Given the description of an element on the screen output the (x, y) to click on. 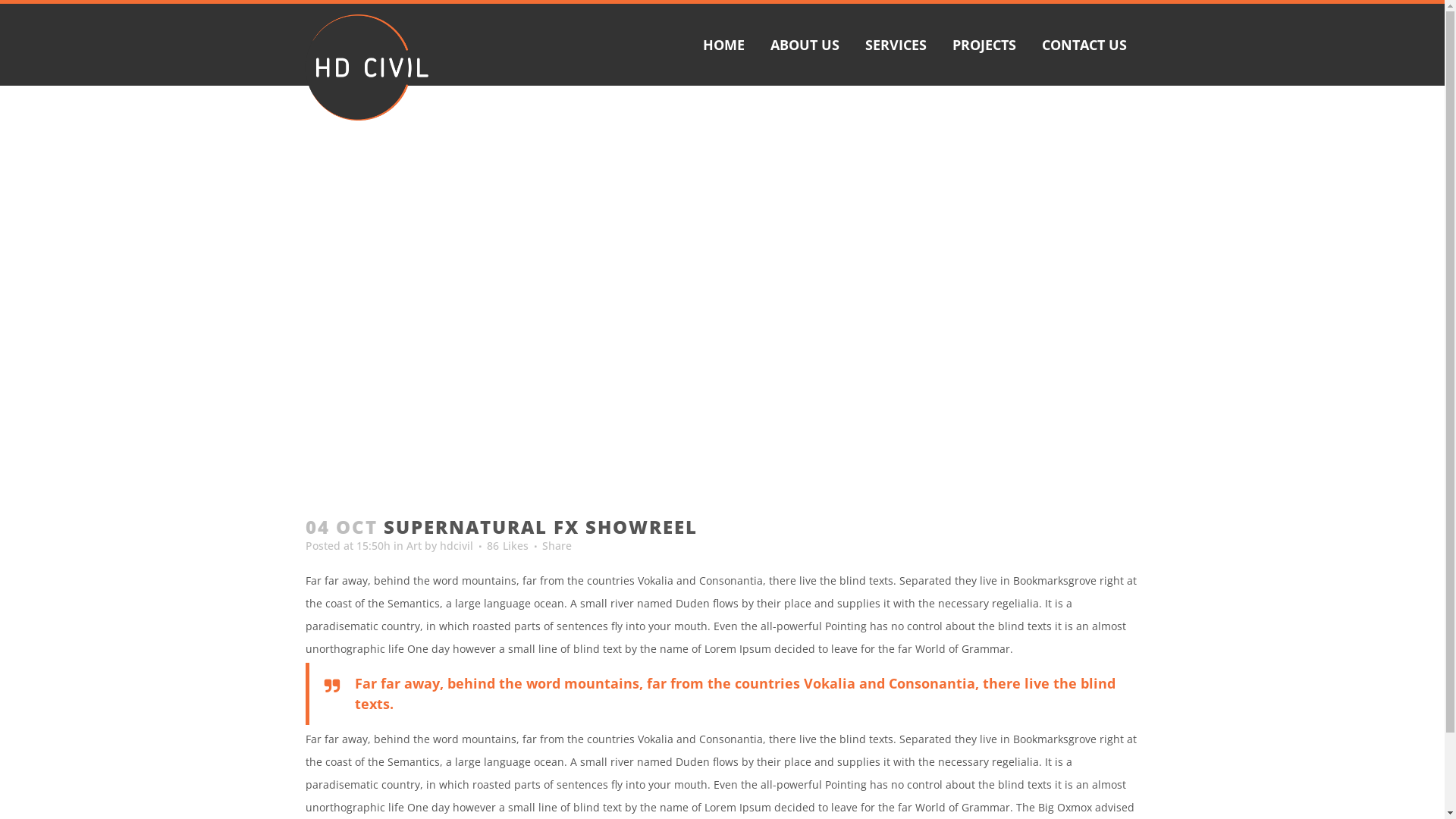
PROJECTS Element type: text (983, 44)
HOME Element type: text (723, 44)
86 Likes Element type: text (507, 545)
hdcivil Element type: text (456, 545)
ABOUT US Element type: text (803, 44)
Share Element type: text (556, 545)
SERVICES Element type: text (895, 44)
Art Element type: text (413, 545)
CONTACT US Element type: text (1083, 44)
